Given the description of an element on the screen output the (x, y) to click on. 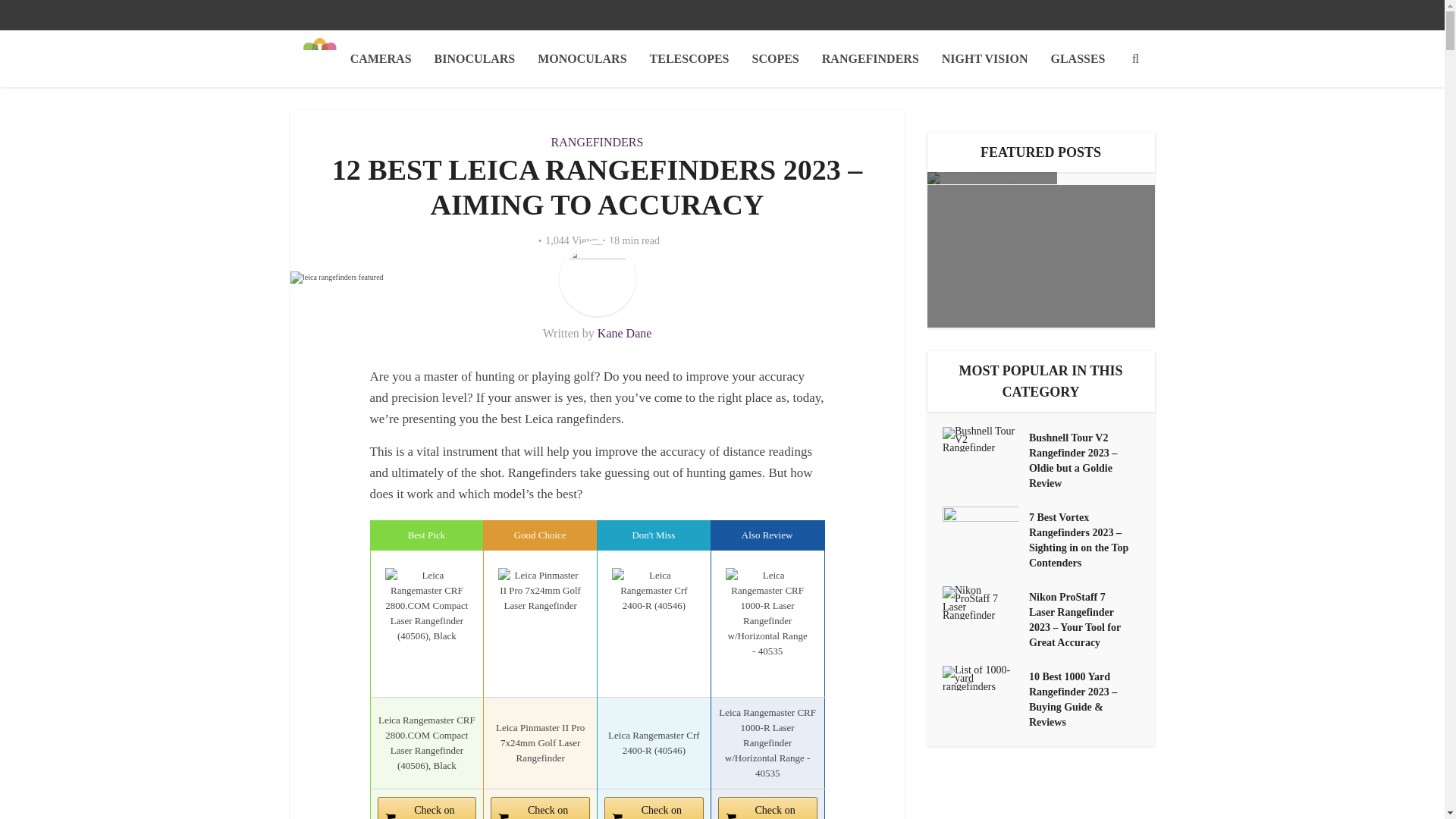
Check on Amazon (539, 807)
TELESCOPES (690, 58)
GLASSES (1077, 58)
CAMERAS (381, 58)
RANGEFINDERS (870, 58)
SCOPES (775, 58)
Check on Amazon (653, 807)
Check on Amazon (766, 807)
Check on Amazon (427, 807)
Check on Amazon (766, 807)
Kane Dane (624, 332)
NIGHT VISION (984, 58)
Check on Amazon (539, 807)
Check on Amazon (653, 807)
MONOCULARS (581, 58)
